Given the description of an element on the screen output the (x, y) to click on. 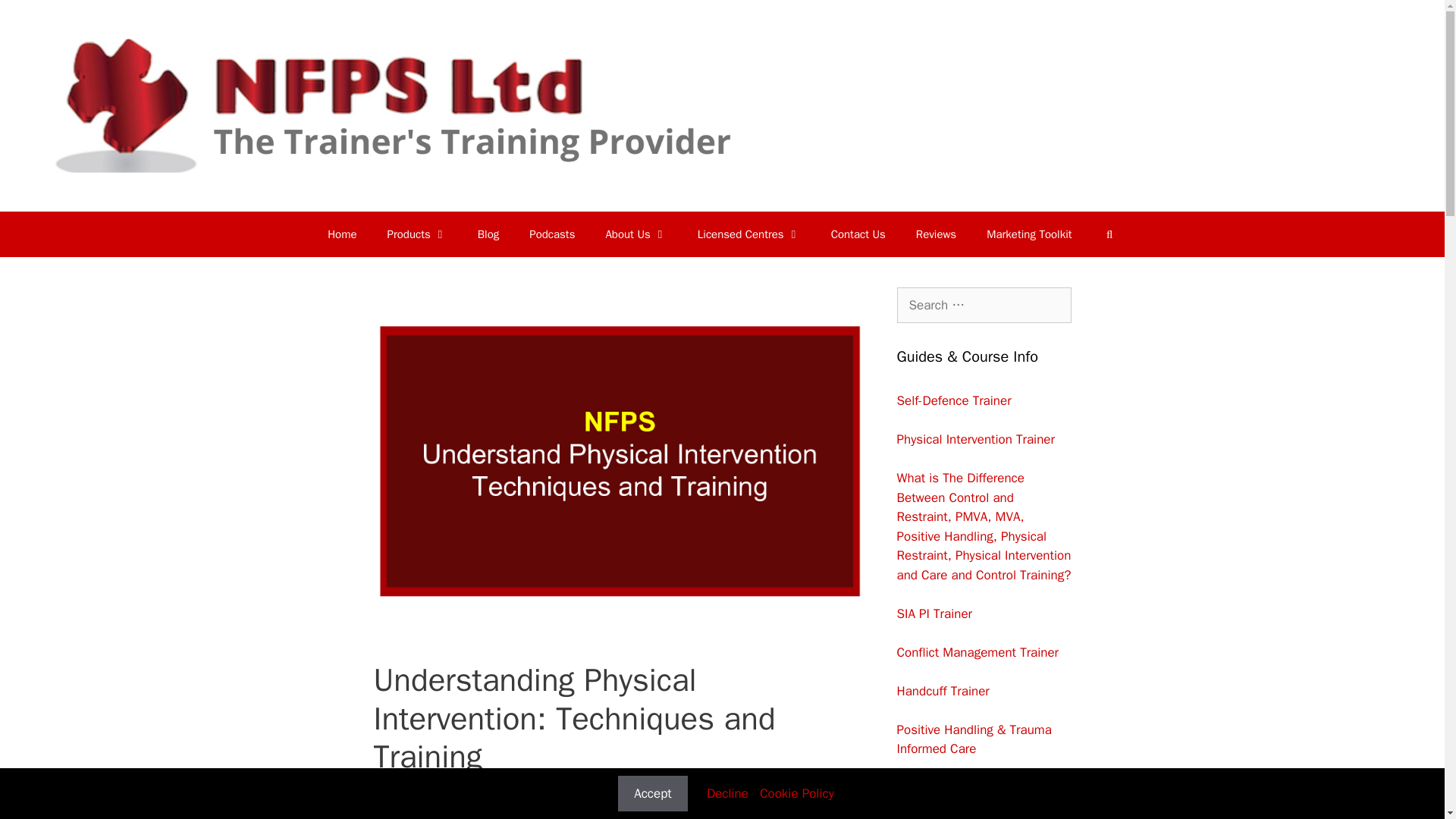
Accept (652, 792)
Products (417, 234)
Podcasts (551, 234)
Decline (727, 793)
Marketing Toolkit (1028, 234)
Contact Us (858, 234)
View all posts by Trevel Henry (501, 789)
Home (342, 234)
Reviews (936, 234)
Search for: (983, 305)
Blog (488, 234)
Licensed Centres (748, 234)
About Us (635, 234)
Trevel Henry (501, 789)
Cookie Policy (797, 793)
